Given the description of an element on the screen output the (x, y) to click on. 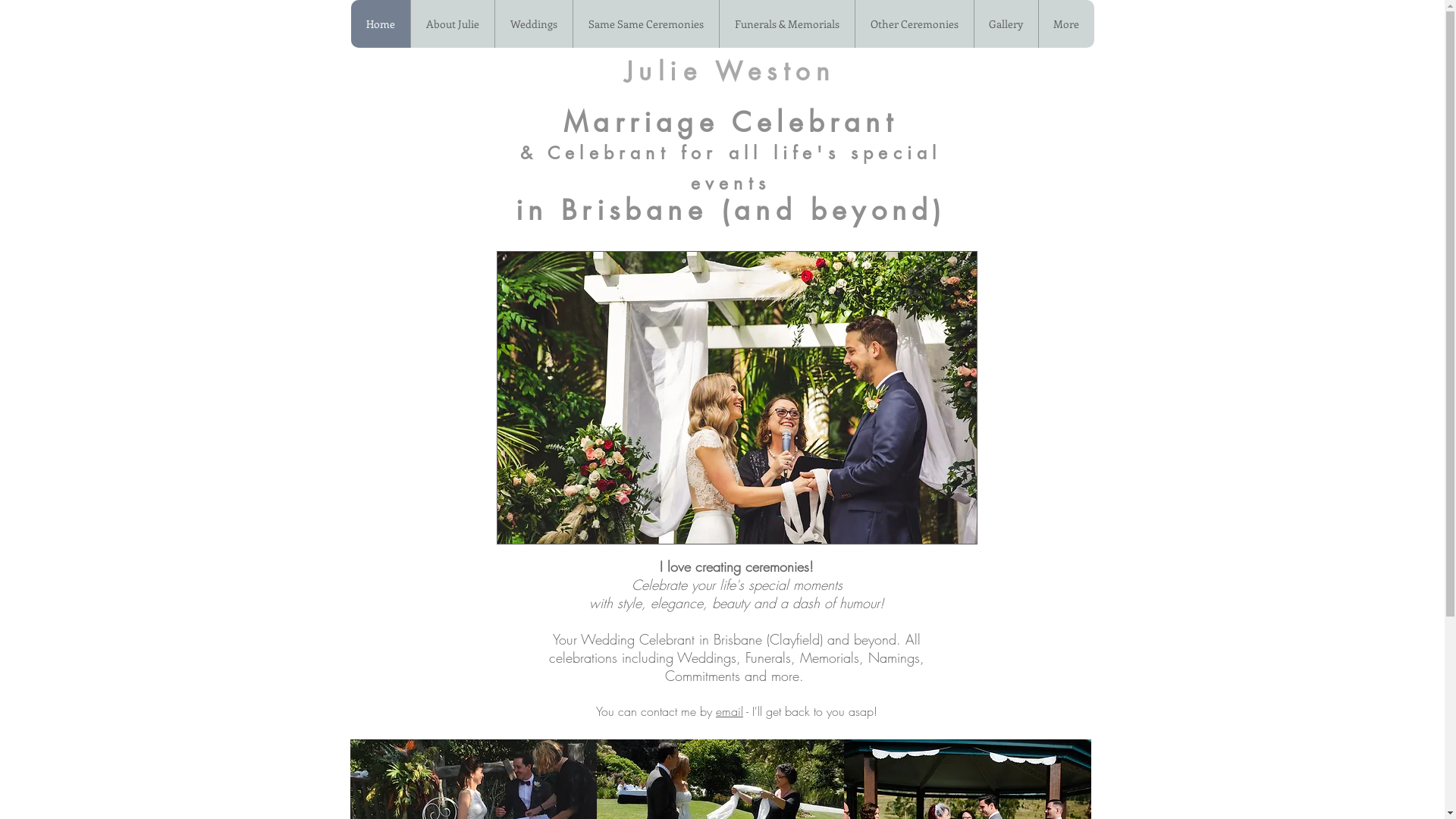
email Element type: text (729, 710)
Gallery Element type: text (1005, 23)
Other Ceremonies Element type: text (912, 23)
Same Same Ceremonies Element type: text (644, 23)
Marriage Celebrant Element type: text (730, 122)
About Julie Element type: text (451, 23)
Home Element type: text (379, 23)
in Brisbane (and beyond) Element type: text (730, 210)
 - I'll get back to you asap! Element type: text (810, 710)
Funerals & Memorials Element type: text (786, 23)
Weddings Element type: text (533, 23)
